Given the description of an element on the screen output the (x, y) to click on. 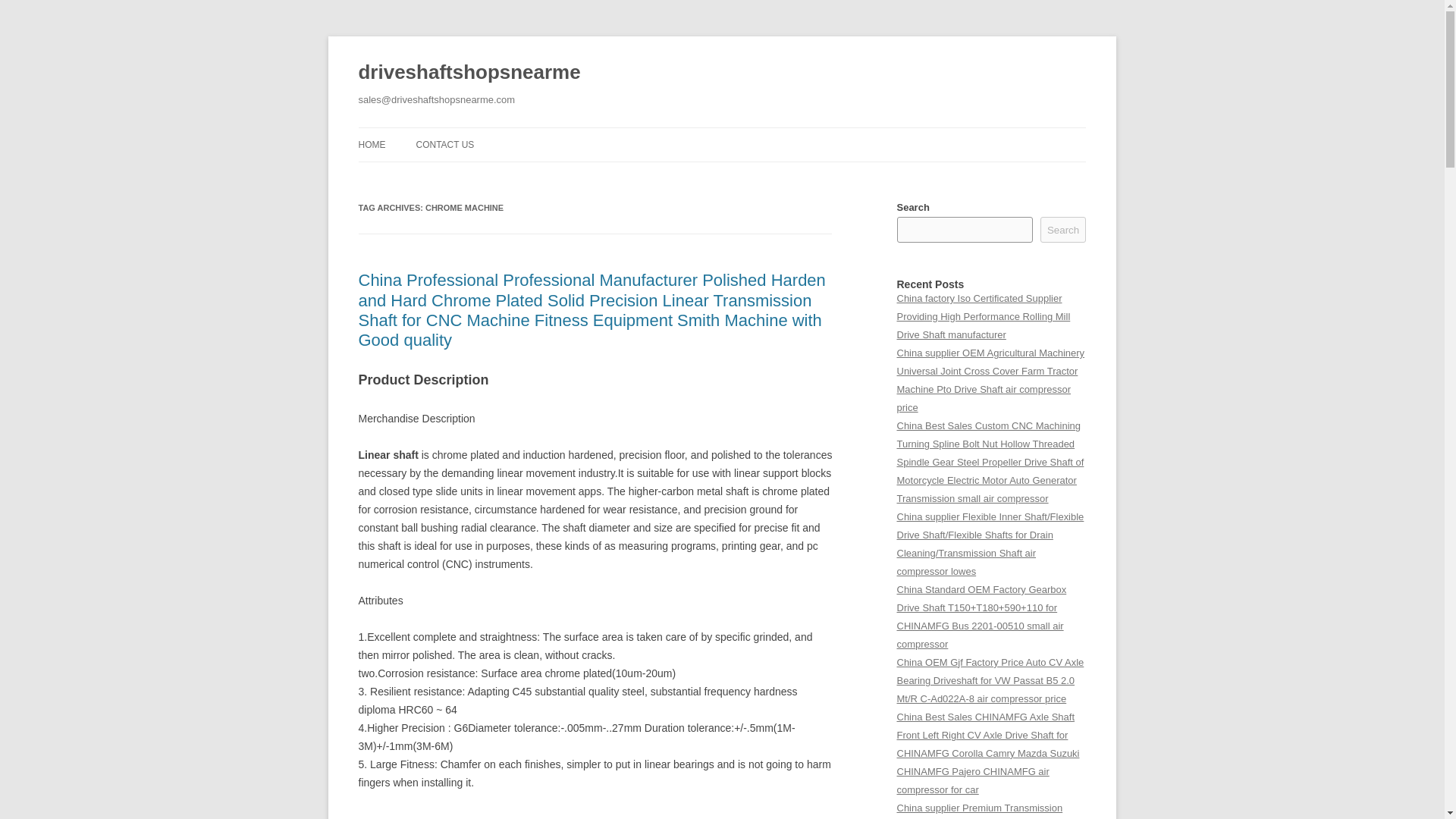
driveshaftshopsnearme (468, 72)
driveshaftshopsnearme (468, 72)
Search (1063, 229)
